Given the description of an element on the screen output the (x, y) to click on. 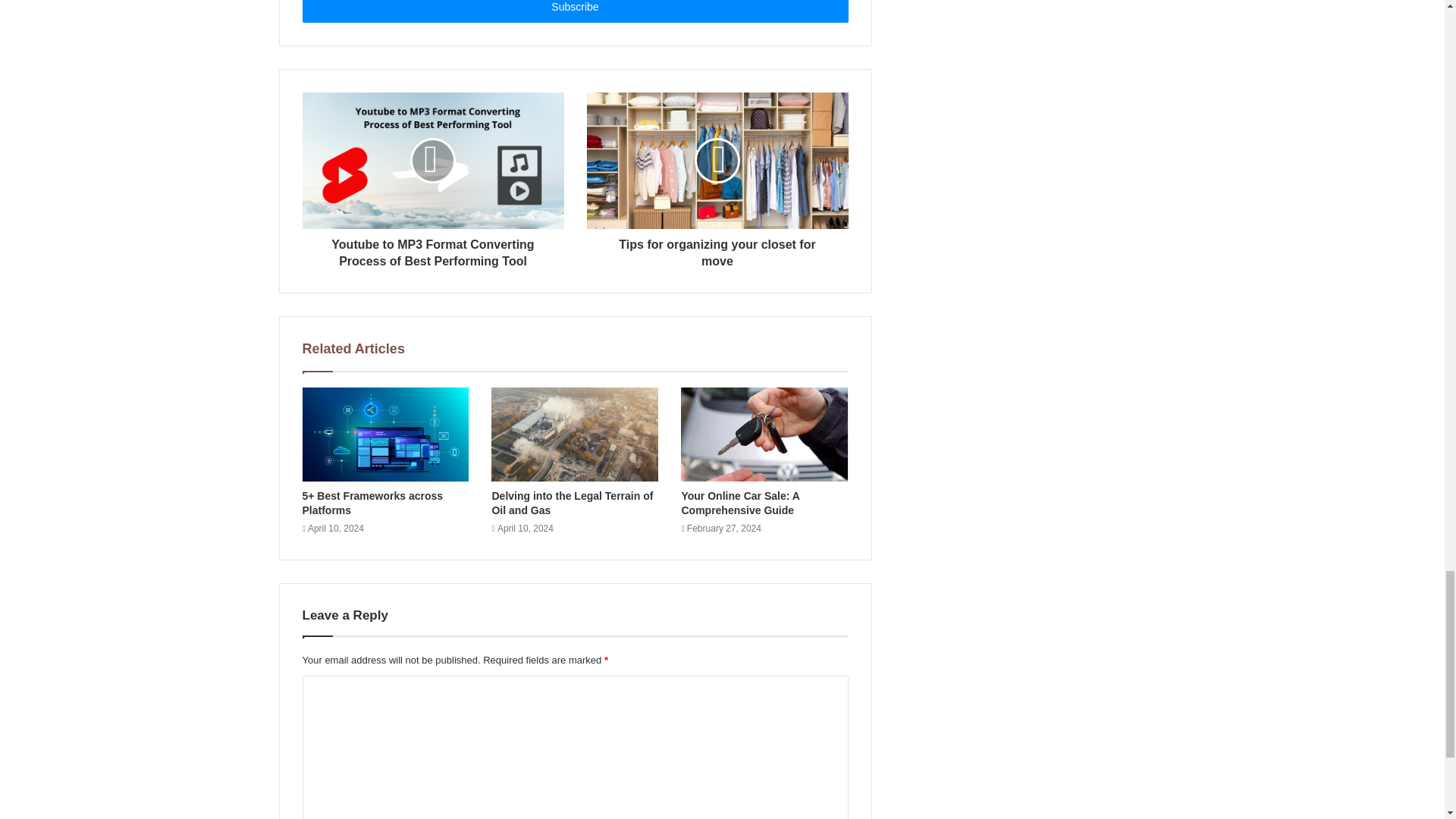
Subscribe (574, 11)
